Given the description of an element on the screen output the (x, y) to click on. 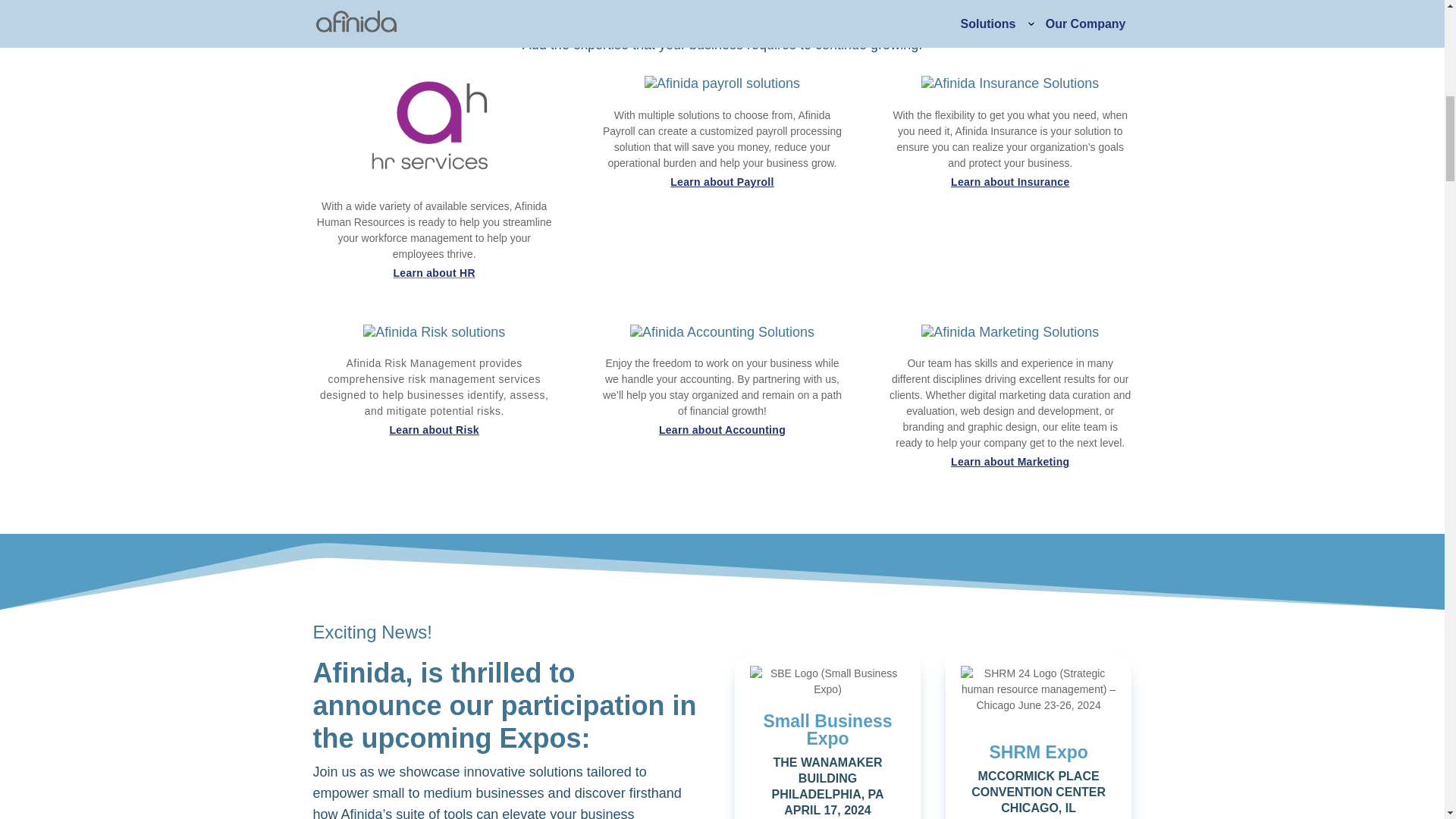
Learn about Insurance (1009, 182)
Learn about Marketing (1009, 461)
Learn about Payroll (721, 182)
Learn about Accounting (722, 429)
Learn about HR (433, 272)
Learn about Risk (434, 429)
